Given the description of an element on the screen output the (x, y) to click on. 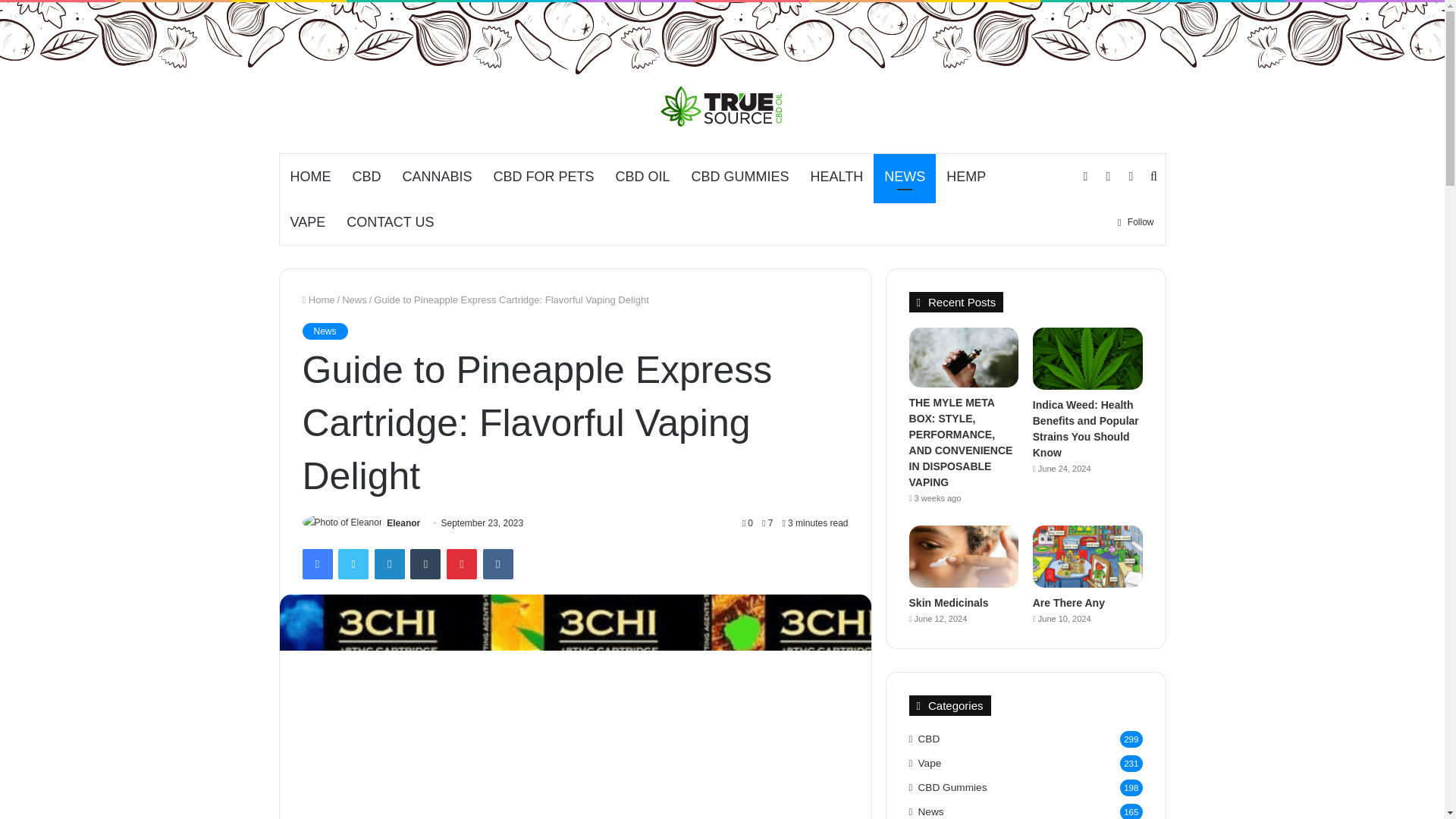
LinkedIn (389, 563)
Pinterest (461, 563)
Follow (1135, 221)
CBD GUMMIES (740, 176)
CANNABIS (437, 176)
VAPE (307, 221)
NEWS (904, 176)
HOME (309, 176)
Tumblr (425, 563)
VKontakte (498, 563)
